Given the description of an element on the screen output the (x, y) to click on. 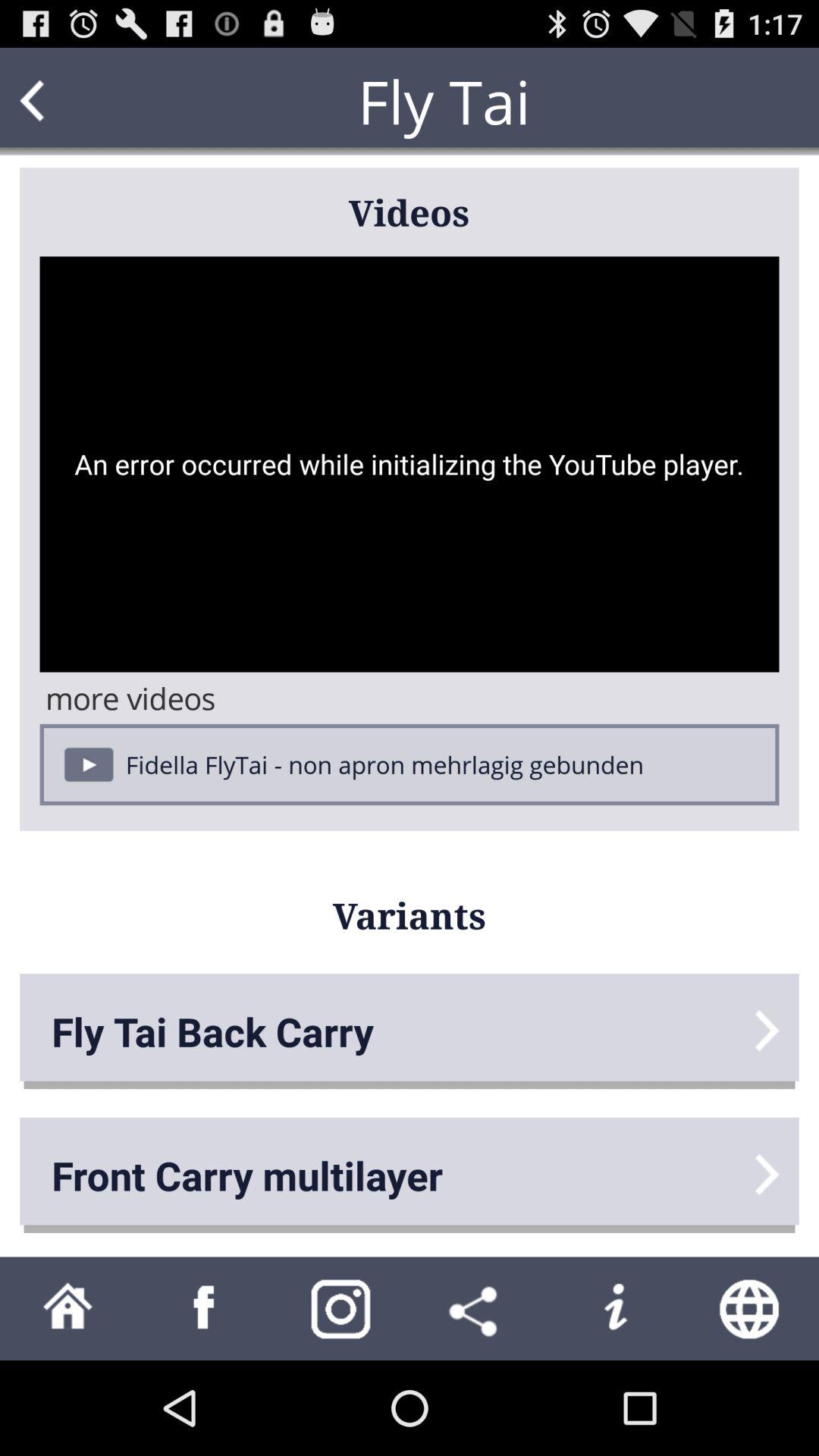
tap the app next to the fly tai icon (61, 101)
